Given the description of an element on the screen output the (x, y) to click on. 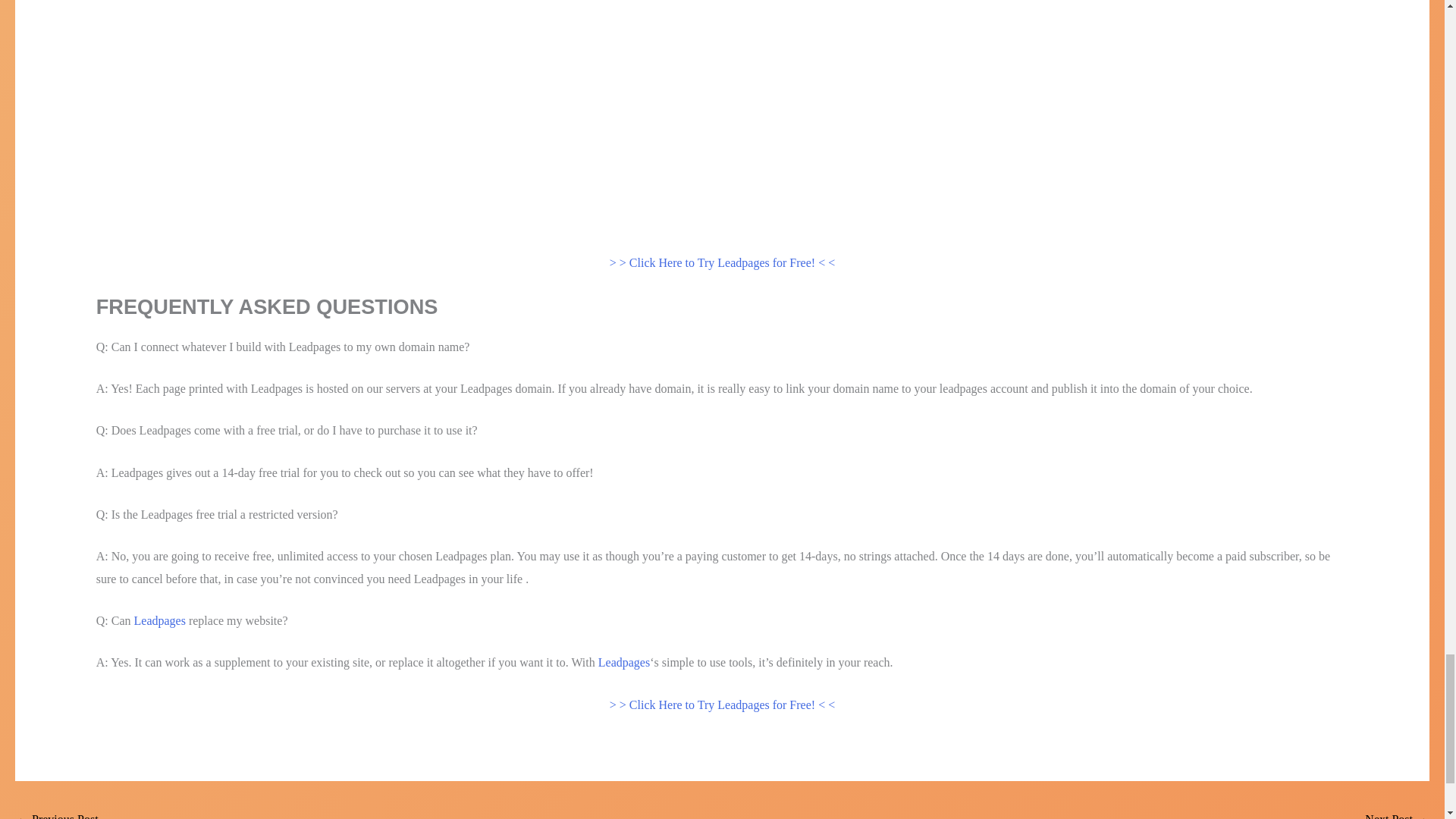
Leadpages (623, 662)
How to Edit Leadpages in Browser (57, 812)
Leadpages on Wordpress if Already Exists (1396, 812)
Leadpages (158, 620)
